Given the description of an element on the screen output the (x, y) to click on. 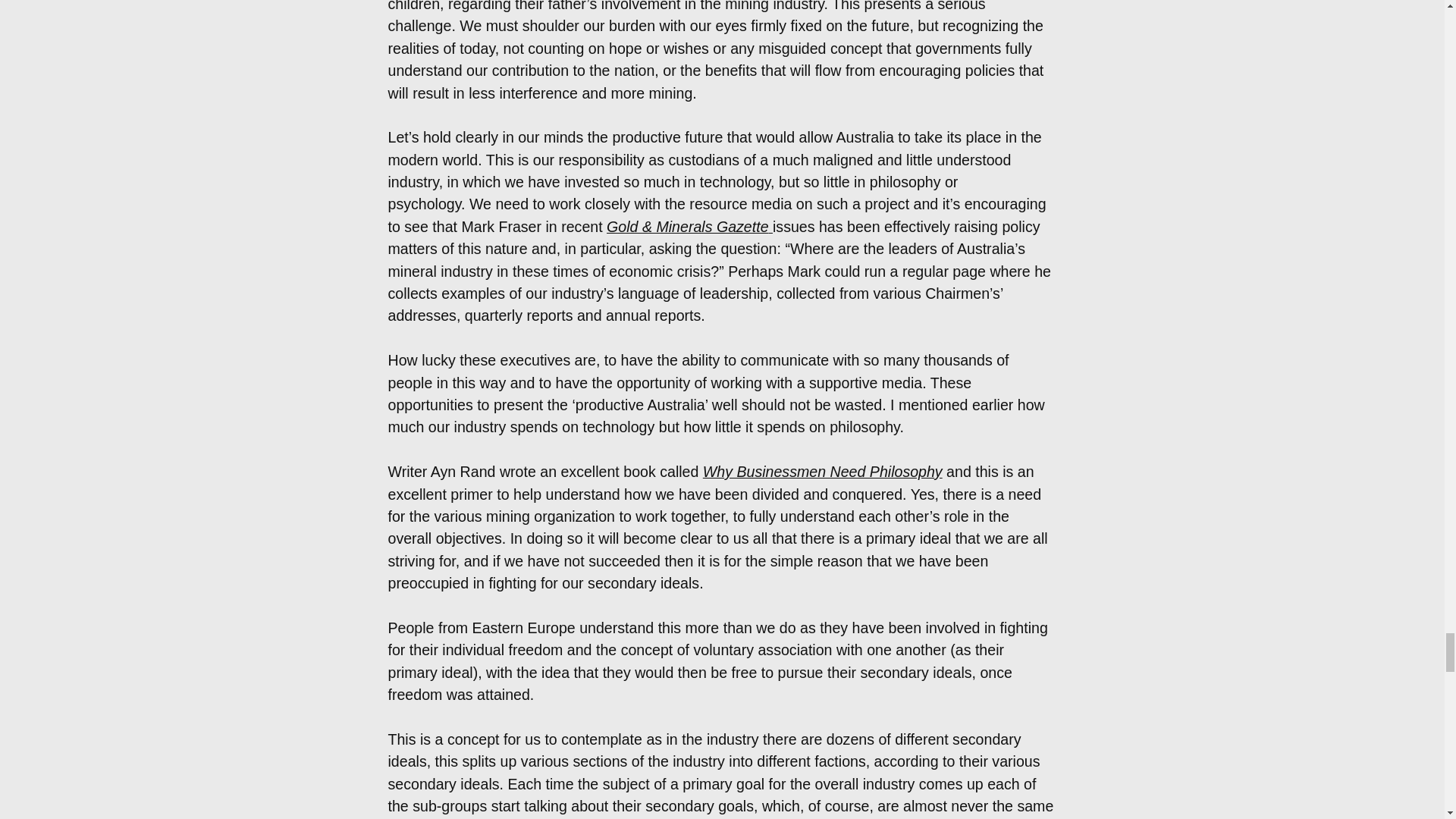
Why Businessmen Need Philosophy (822, 471)
